Given the description of an element on the screen output the (x, y) to click on. 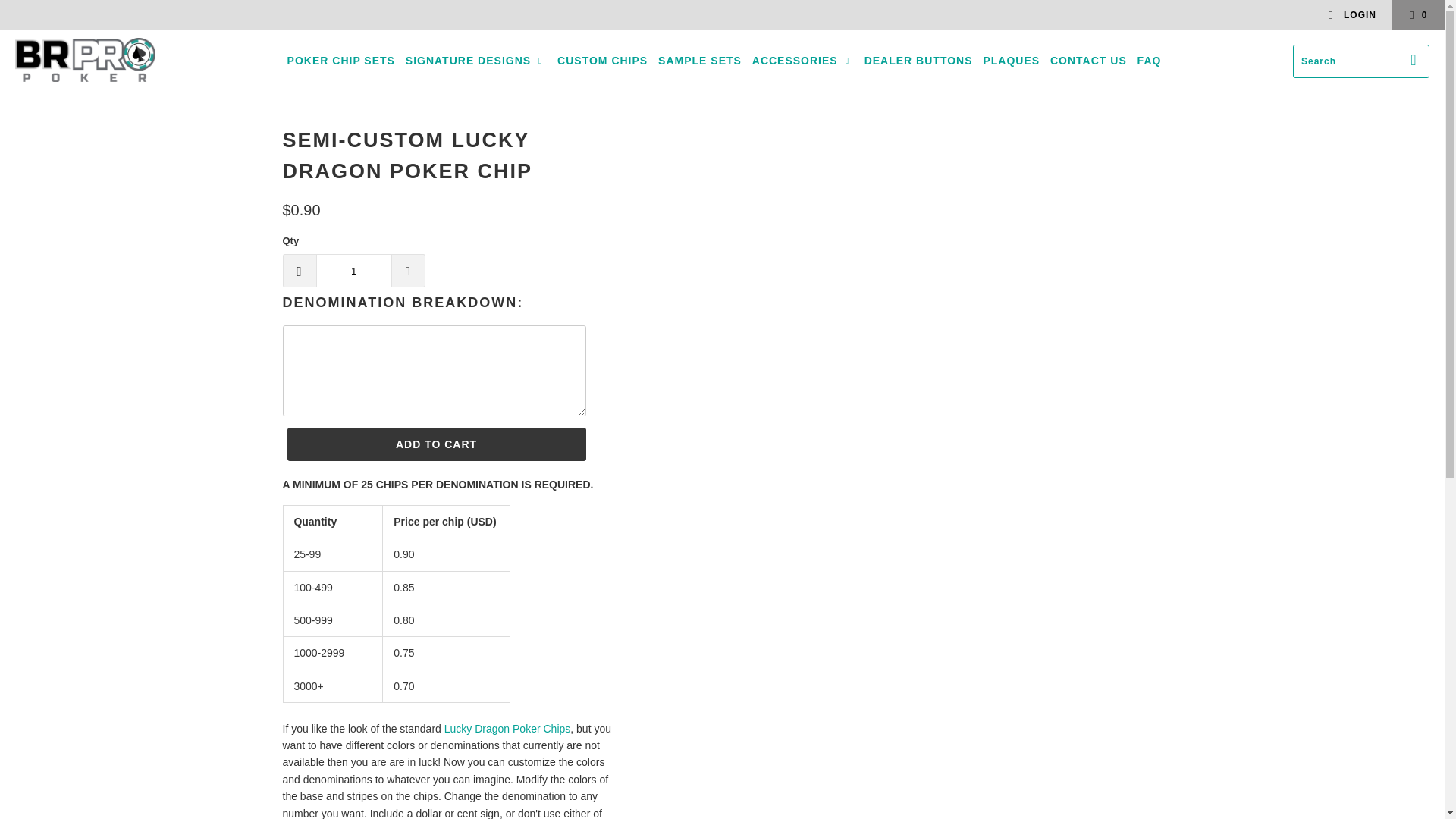
SIGNATURE DESIGNS (476, 60)
BR Pro Poker (84, 60)
POKER CHIP SETS (340, 60)
1 (353, 270)
LOGIN (1351, 15)
My Account  (1351, 15)
